Given the description of an element on the screen output the (x, y) to click on. 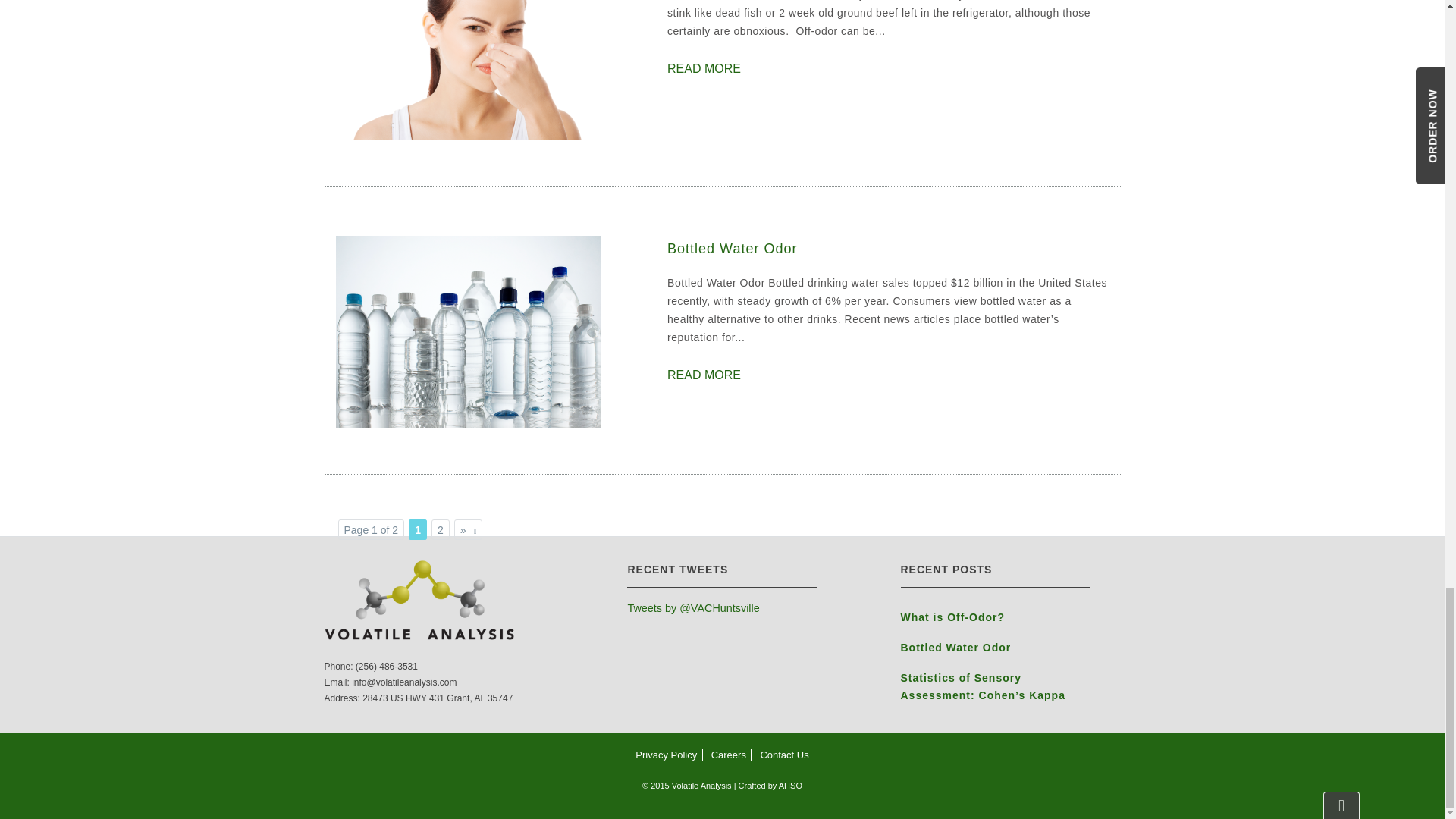
Bottled Water Odor (703, 375)
What is Off-Odor? (703, 69)
Bottled Water Odor (887, 248)
What is Off-Odor? (466, 42)
Bottled Water Odor (466, 331)
What is Off-Odor? (995, 620)
